Given the description of an element on the screen output the (x, y) to click on. 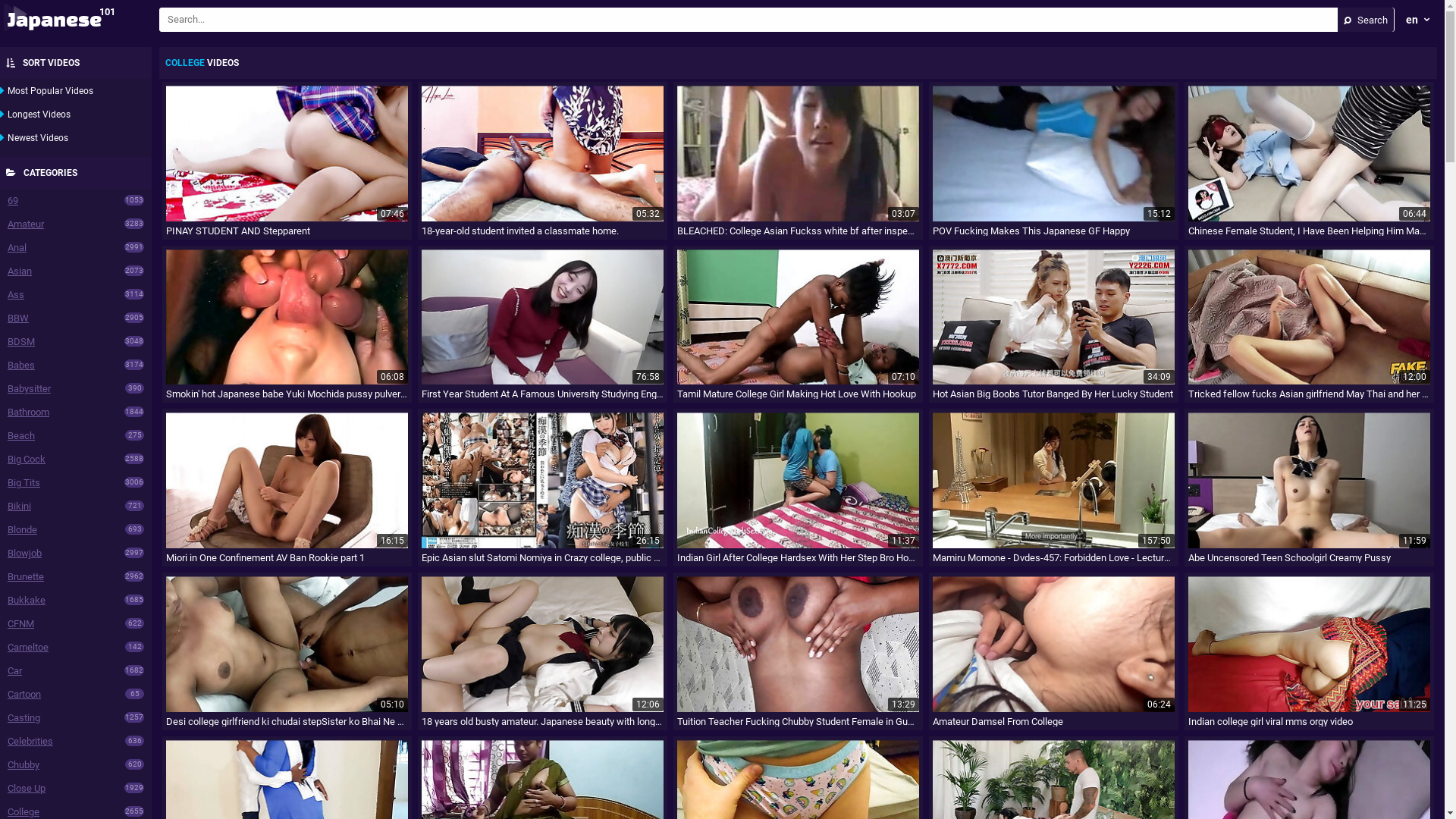
Blonde Element type: text (22, 529)
Babysitter Element type: text (28, 388)
Big Cock Element type: text (26, 458)
Close Up Element type: text (26, 787)
Casting Element type: text (23, 717)
Chubby Element type: text (23, 764)
Search Element type: text (1365, 19)
CFNM Element type: text (20, 623)
Blowjob Element type: text (24, 552)
Cartoon Element type: text (23, 693)
BDSM Element type: text (20, 341)
Asian Element type: text (19, 270)
BBW Element type: text (17, 317)
Newest Videos Element type: text (37, 137)
College Element type: text (23, 811)
Brunette Element type: text (25, 576)
Big Tits Element type: text (23, 482)
Bathroom Element type: text (28, 411)
Celebrities Element type: text (30, 740)
Amateur Element type: text (25, 223)
Babes Element type: text (20, 364)
101
Japanese Element type: text (83, 19)
en Element type: text (1417, 19)
Ass Element type: text (15, 294)
Beach Element type: text (20, 435)
Bukkake Element type: text (26, 599)
69 Element type: text (12, 200)
Car Element type: text (14, 670)
Cameltoe Element type: text (27, 646)
Anal Element type: text (16, 247)
Most Popular Videos Element type: text (50, 90)
Bikini Element type: text (19, 505)
Longest Videos Element type: text (39, 114)
